Given the description of an element on the screen output the (x, y) to click on. 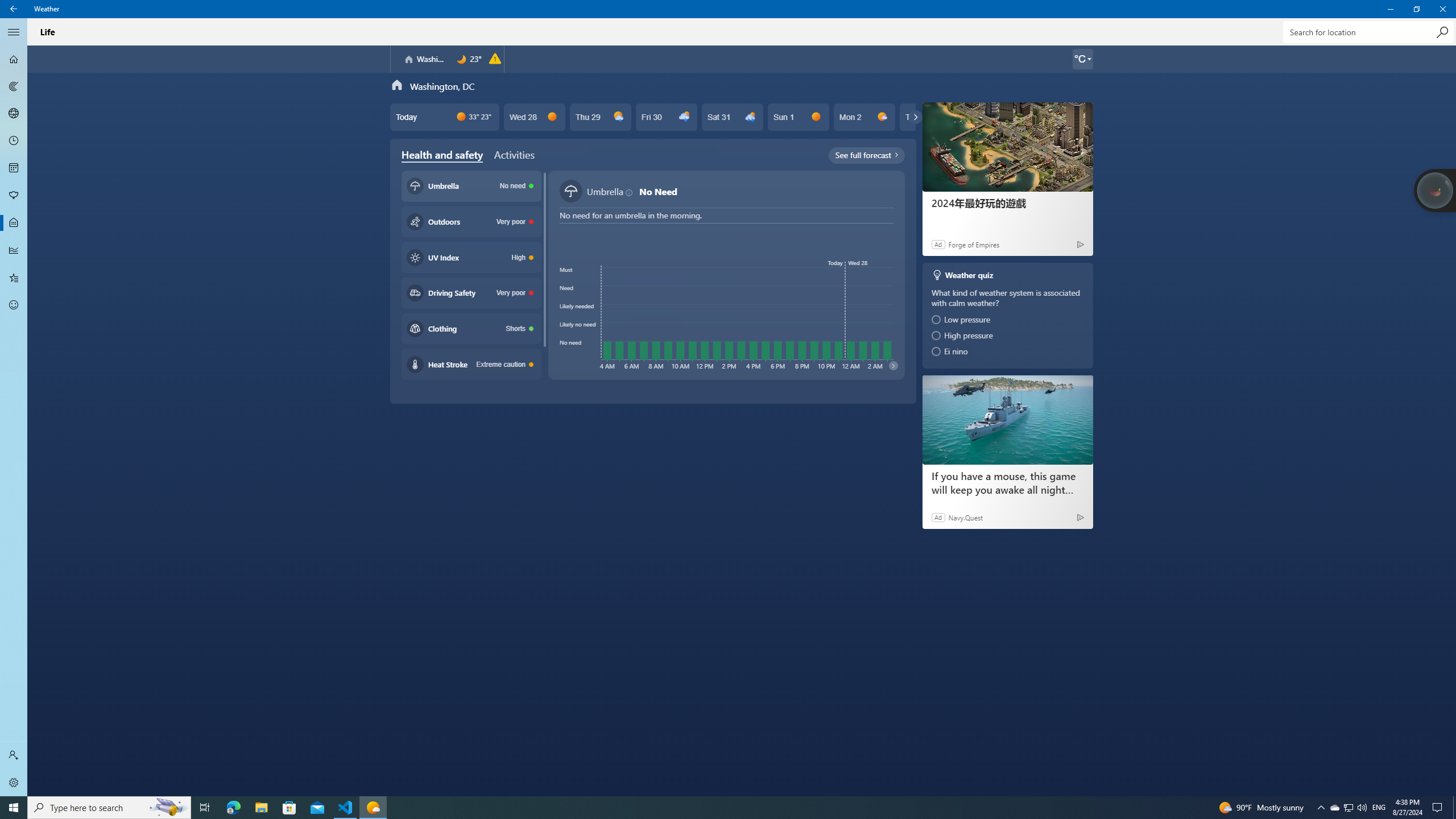
Forecast - Not Selected (13, 58)
Historical Weather - Not Selected (13, 249)
Maps - Not Selected (13, 85)
Hourly Forecast - Not Selected (13, 140)
Favorites - Not Selected (13, 277)
Sign in (13, 755)
Search (1442, 31)
